Given the description of an element on the screen output the (x, y) to click on. 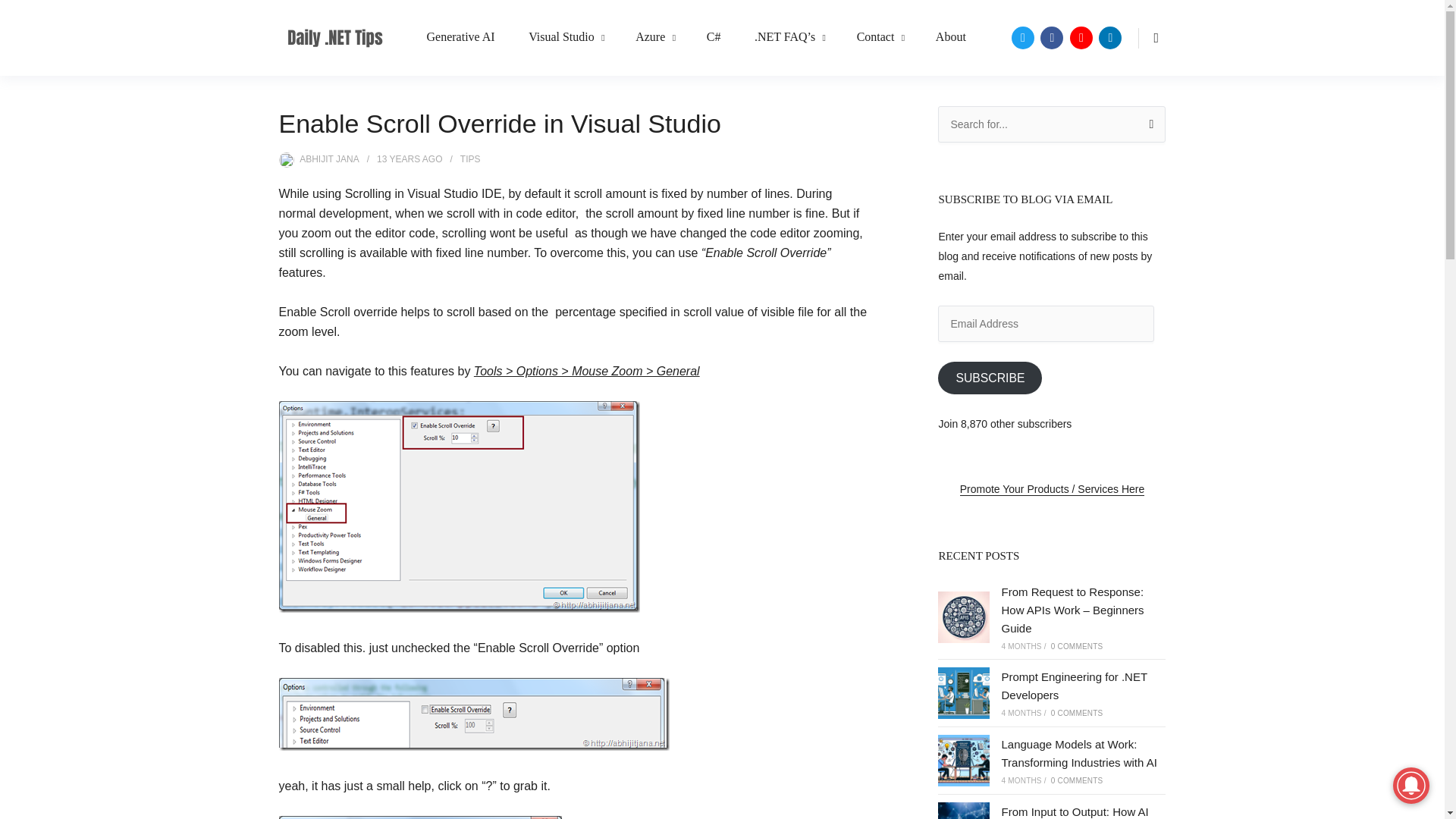
Generative AI (460, 37)
Language Models at Work: Transforming Industries with AI (1078, 753)
image (474, 714)
image (459, 506)
From Input to Output: How AI Language Models Process Text (963, 810)
About (951, 37)
Contact (879, 37)
Azure (653, 37)
Prompt Engineering for .NET Developers (1074, 685)
Visual Studio (565, 37)
Prompt Engineering for .NET Developers (963, 693)
Language Models at Work: Transforming Industries with AI (963, 760)
From Input to Output: How AI Language Models Process Text (1079, 812)
Search for: (1051, 124)
